Given the description of an element on the screen output the (x, y) to click on. 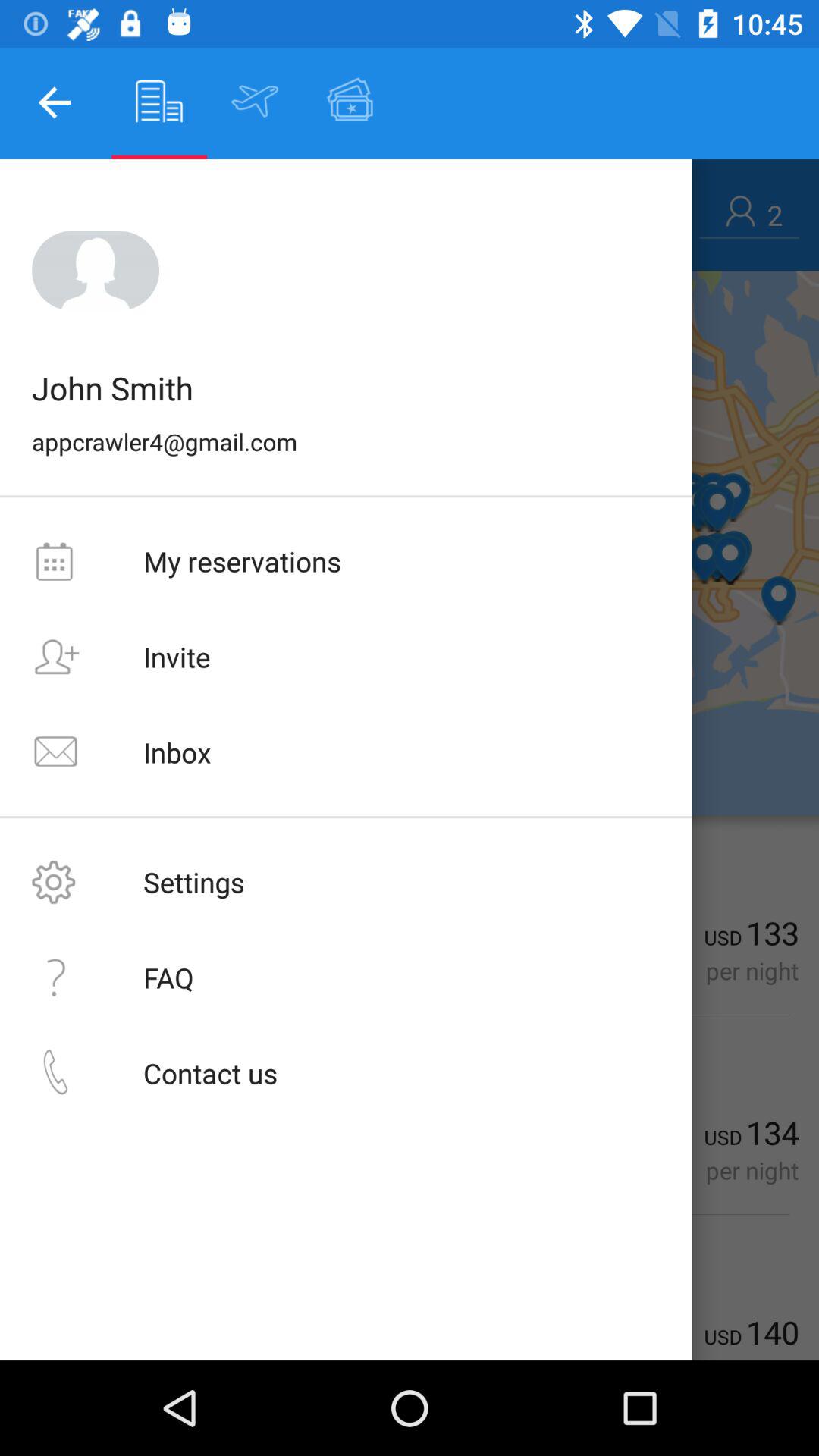
click on the fourth button on the top of the page (350, 101)
click on the image icon above the text john smith (94, 270)
